Given the description of an element on the screen output the (x, y) to click on. 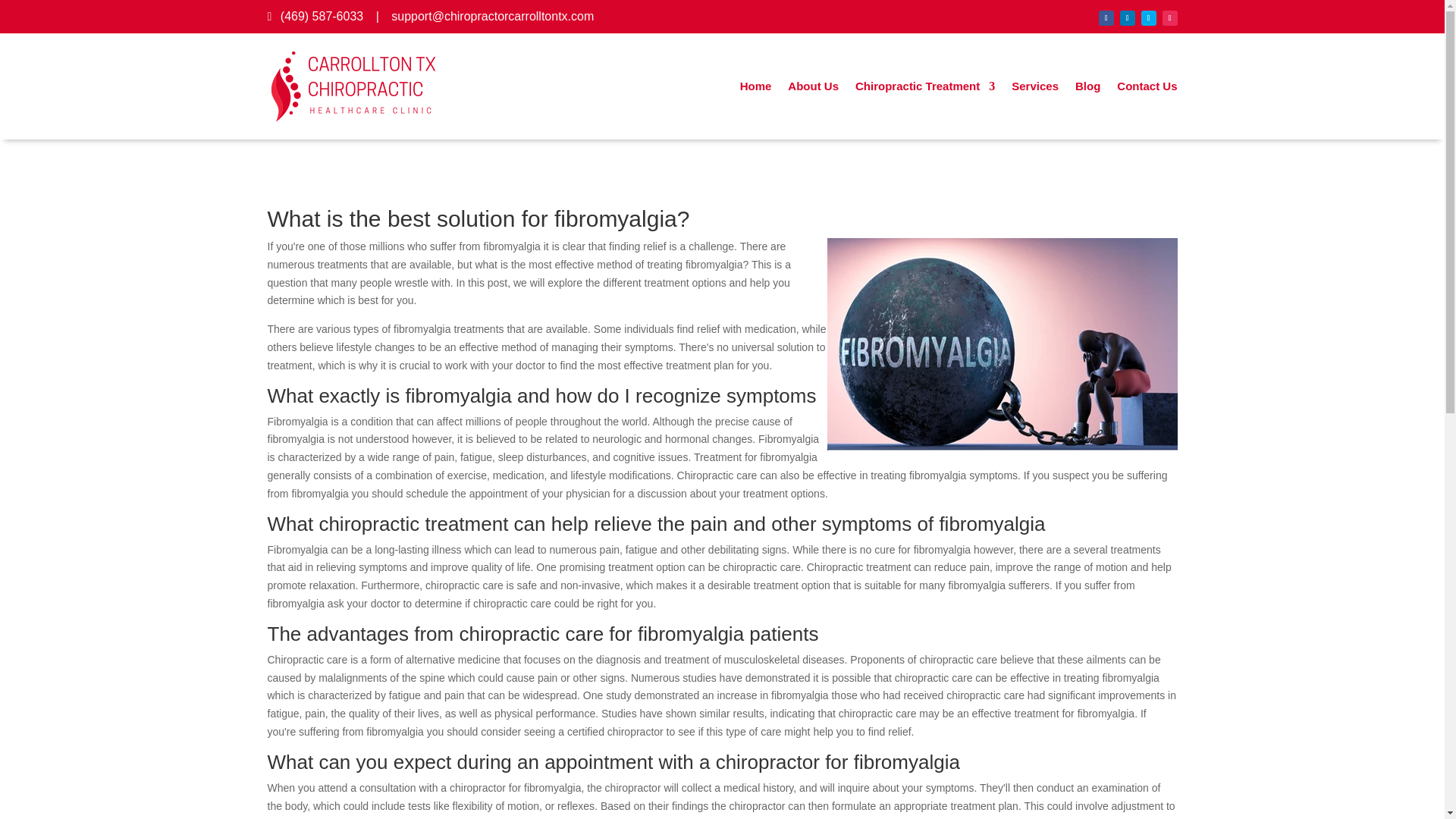
Follow on Facebook (1105, 17)
Follow on Instagram (1168, 17)
Follow on Twitter (1148, 17)
Follow on LinkedIn (1126, 17)
Chiropractic Treatment (925, 86)
